Given the description of an element on the screen output the (x, y) to click on. 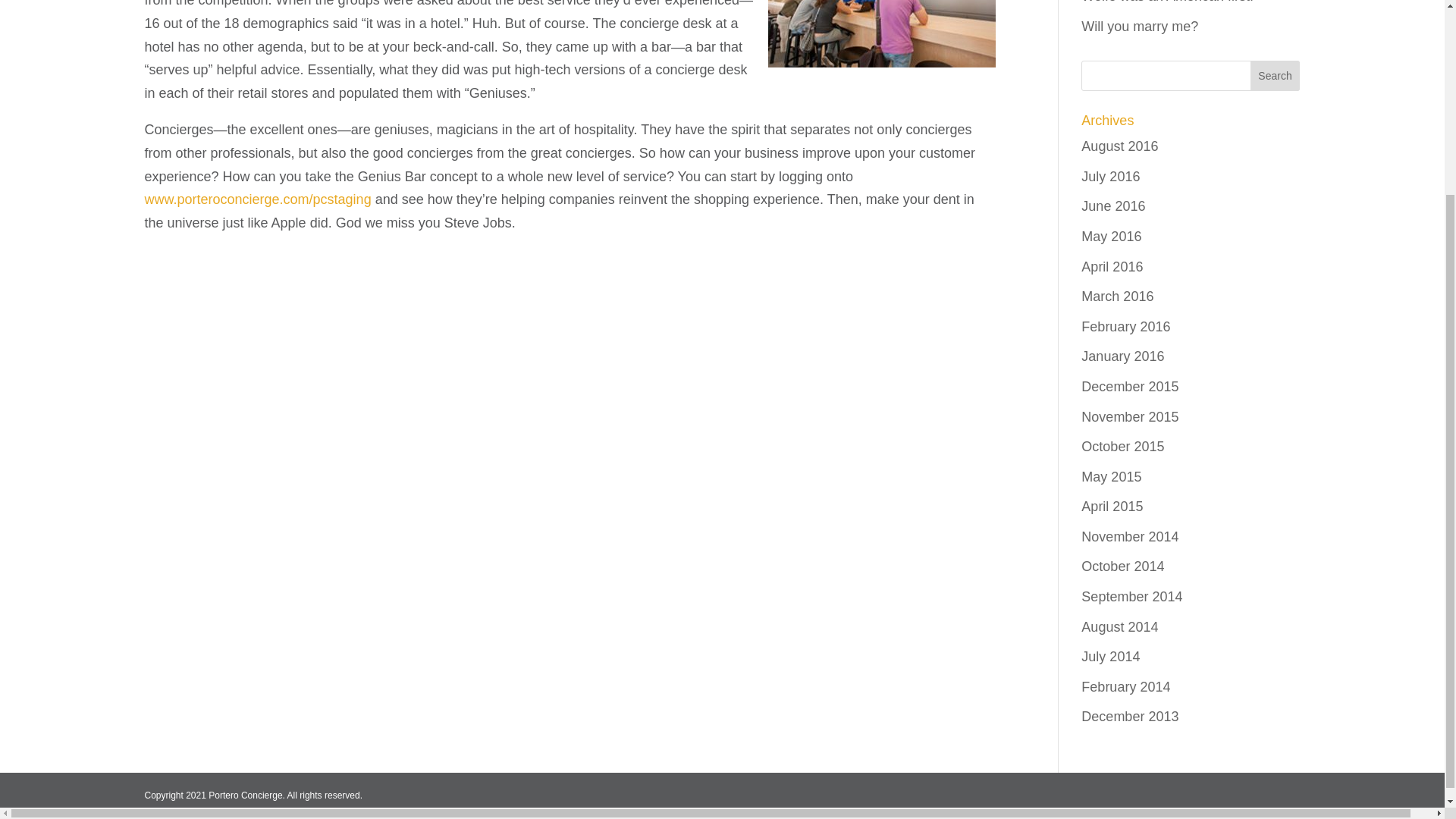
October 2015 (1122, 446)
December 2015 (1129, 386)
May 2015 (1111, 476)
May 2016 (1111, 236)
August 2016 (1119, 145)
November 2015 (1129, 417)
January 2016 (1122, 355)
Wolfe was an American first. (1167, 2)
July 2016 (1110, 176)
June 2016 (1112, 206)
Search (1275, 75)
March 2016 (1117, 296)
Will you marry me? (1139, 26)
Search (1275, 75)
April 2016 (1111, 266)
